Given the description of an element on the screen output the (x, y) to click on. 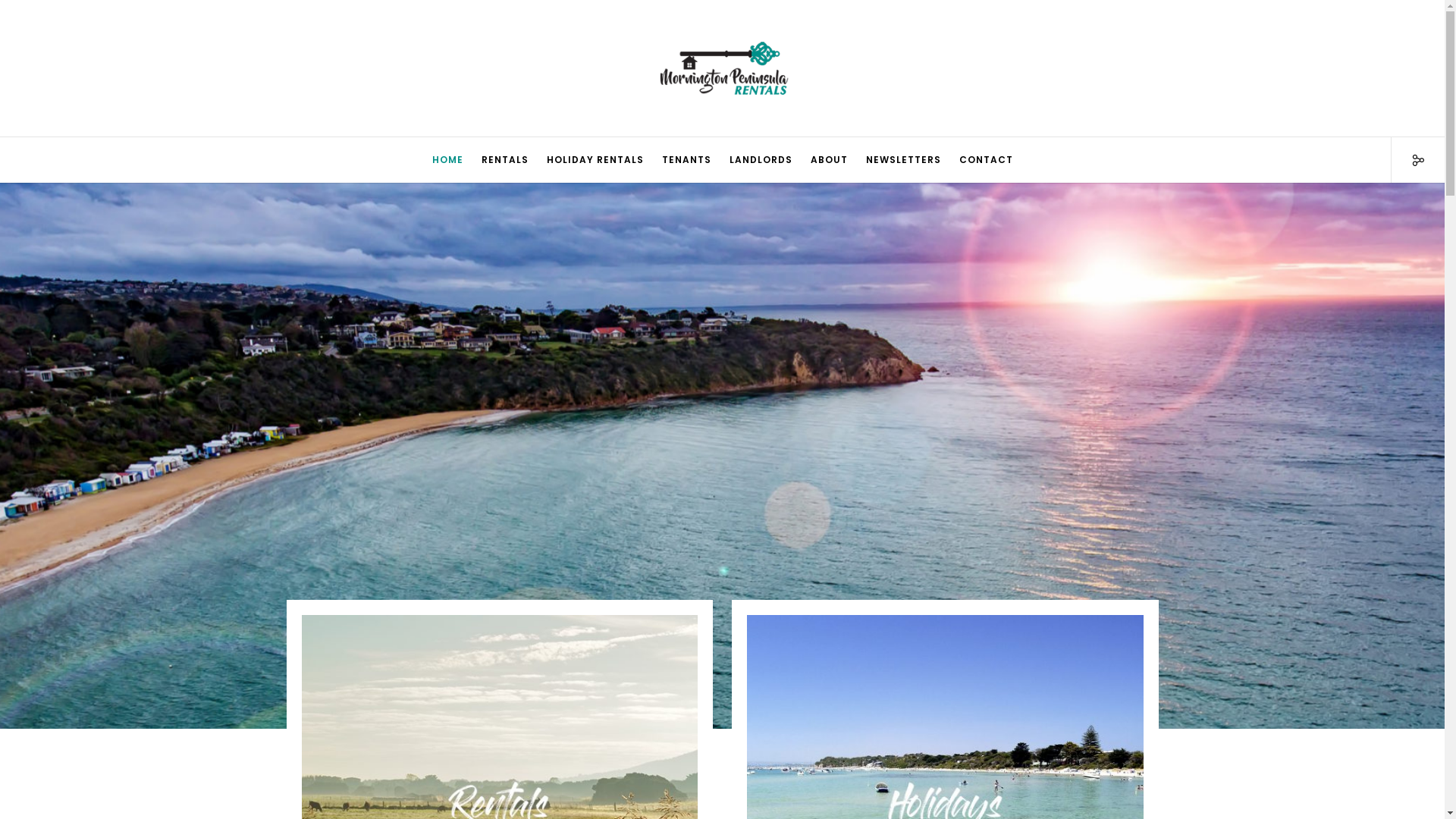
RENTALS Element type: text (503, 159)
NEWSLETTERS Element type: text (903, 159)
TENANTS Element type: text (685, 159)
HOLIDAY RENTALS Element type: text (594, 159)
CONTACT Element type: text (985, 159)
LANDLORDS Element type: text (760, 159)
ABOUT Element type: text (828, 159)
HOME Element type: text (447, 159)
